Given the description of an element on the screen output the (x, y) to click on. 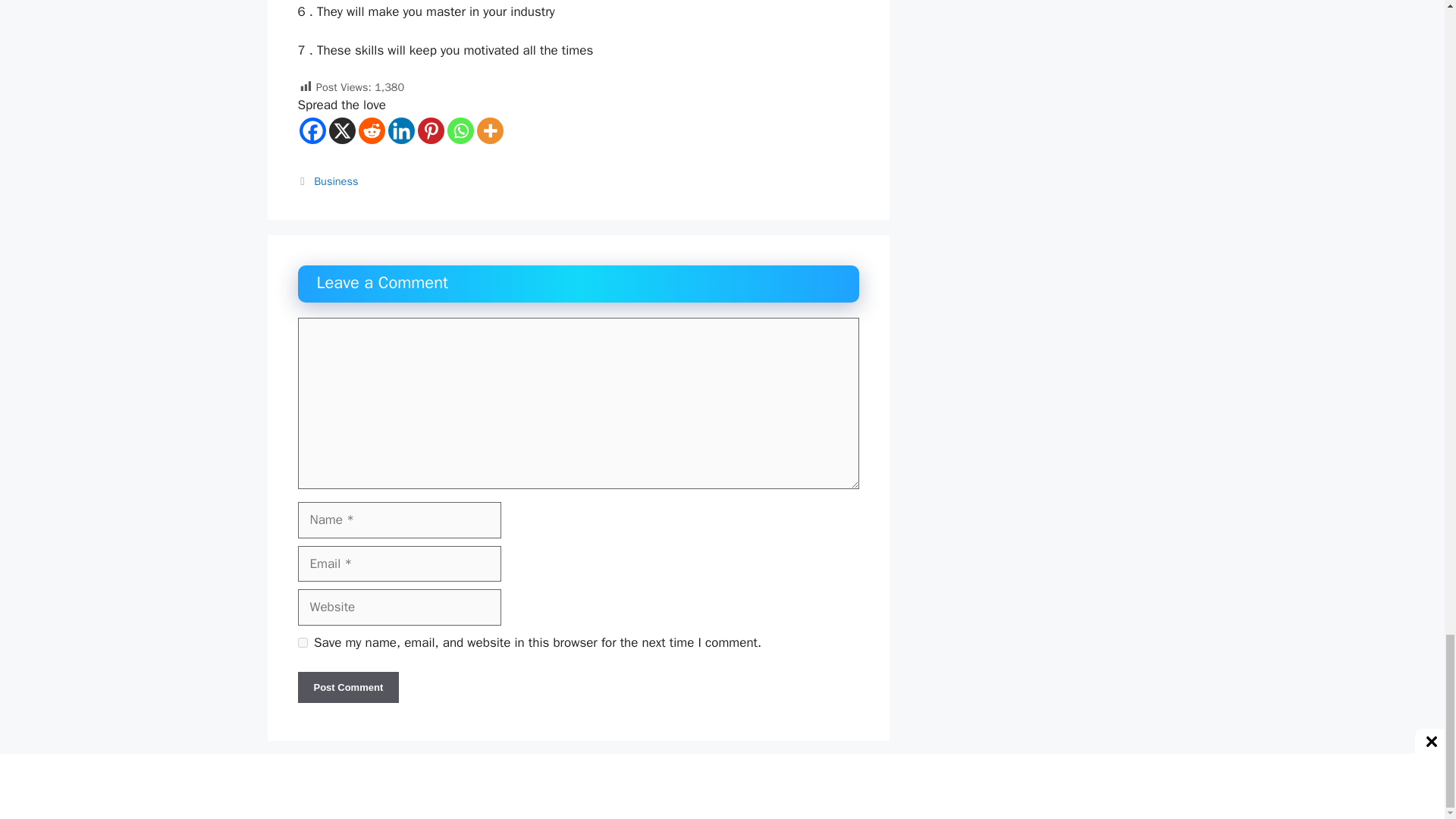
Pinterest (430, 130)
Linkedin (401, 130)
Reddit (371, 130)
Privacy Policy (965, 793)
yes (302, 642)
Disclaimer (888, 793)
More (489, 130)
X (342, 130)
Post Comment (347, 687)
Business (336, 181)
